Given the description of an element on the screen output the (x, y) to click on. 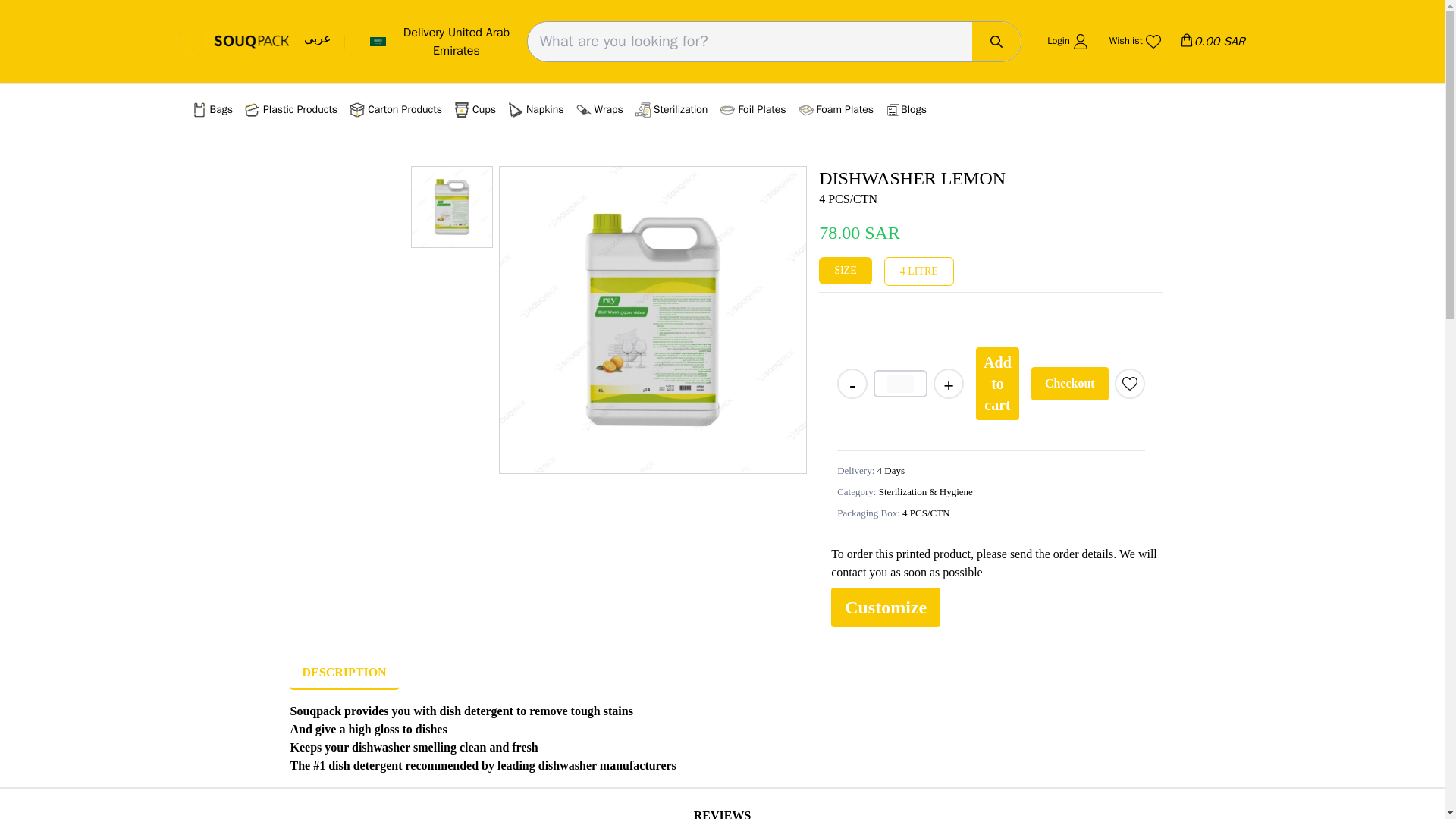
favorite (1152, 41)
Wishlist (1133, 41)
Login (1065, 41)
Delivery United Arab Emirates (441, 41)
user (1080, 41)
0.00 SAR (1211, 41)
SAR (1186, 39)
Search (996, 41)
